Given the description of an element on the screen output the (x, y) to click on. 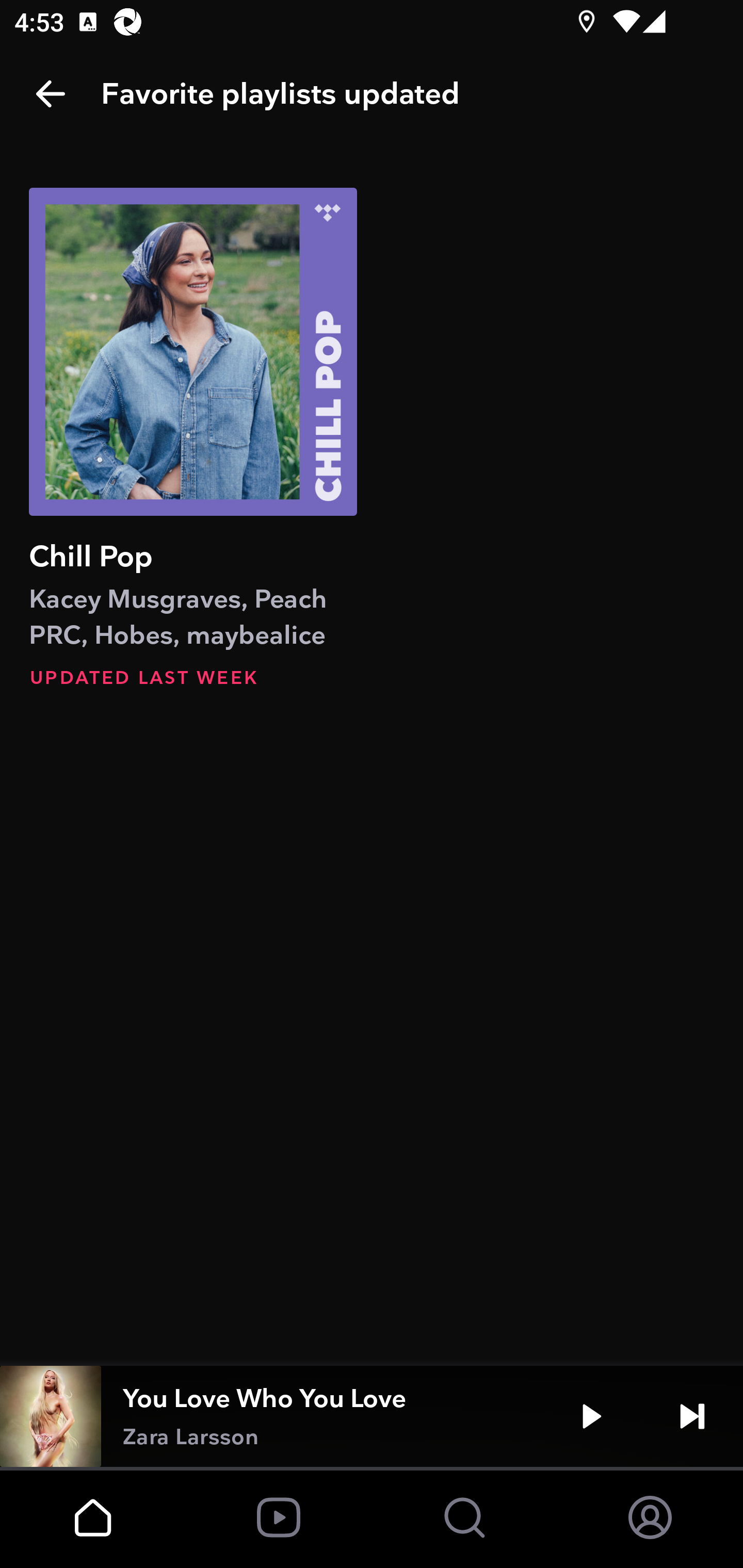
You Love Who You Love Zara Larsson Play (371, 1416)
Play (590, 1416)
